Given the description of an element on the screen output the (x, y) to click on. 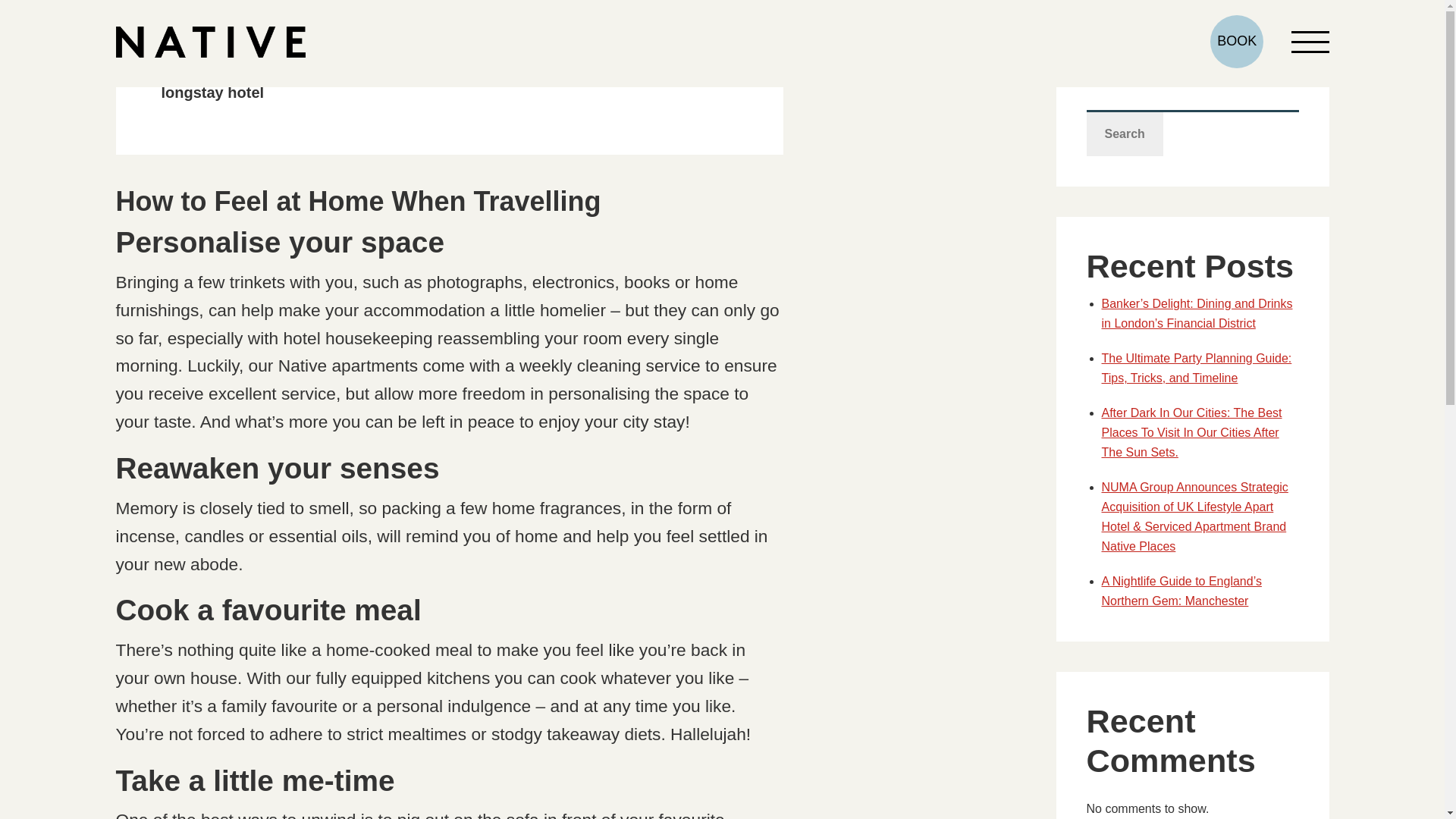
Native Places (209, 40)
How to Feel at Home When Travelling (357, 201)
BOOK (1236, 41)
Search (1123, 134)
